Given the description of an element on the screen output the (x, y) to click on. 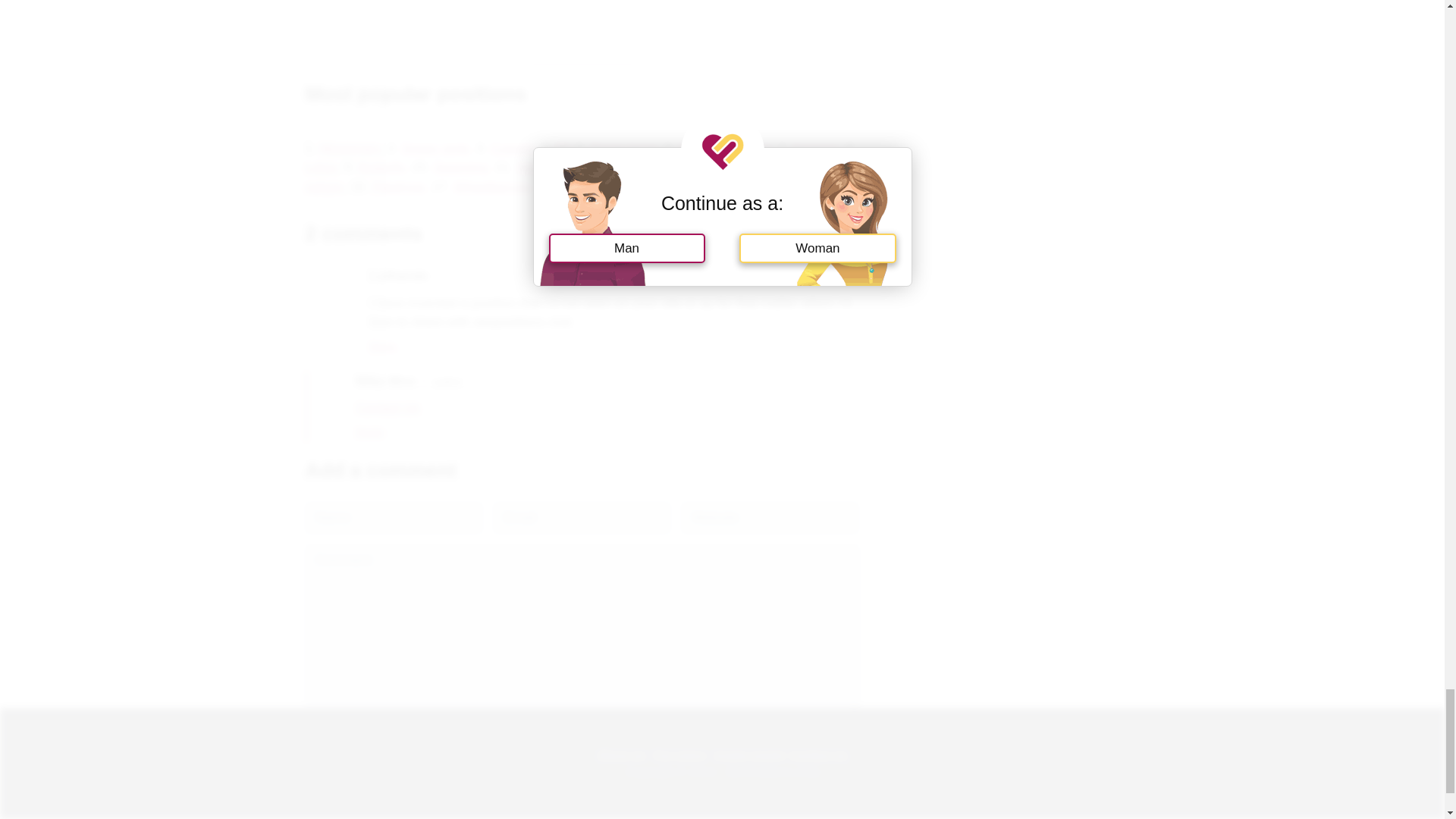
Contact Us (818, 753)
yes (309, 730)
About Us (620, 753)
Post Comment (356, 766)
Image Usage Conditions (749, 753)
Information For Users (678, 753)
